Given the description of an element on the screen output the (x, y) to click on. 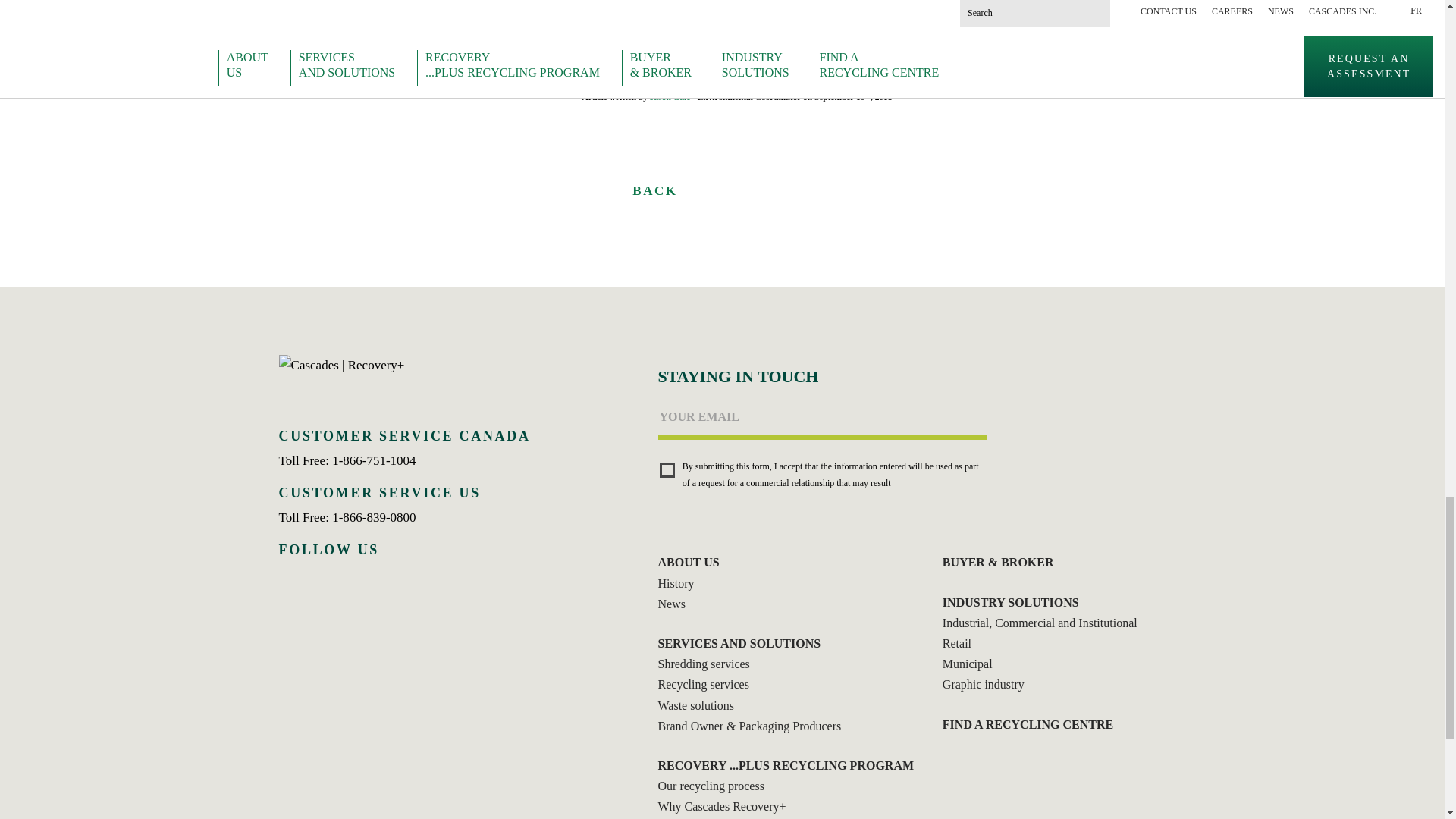
News (679, 603)
History (684, 583)
BACK (630, 191)
Jason Gale (669, 96)
